Given the description of an element on the screen output the (x, y) to click on. 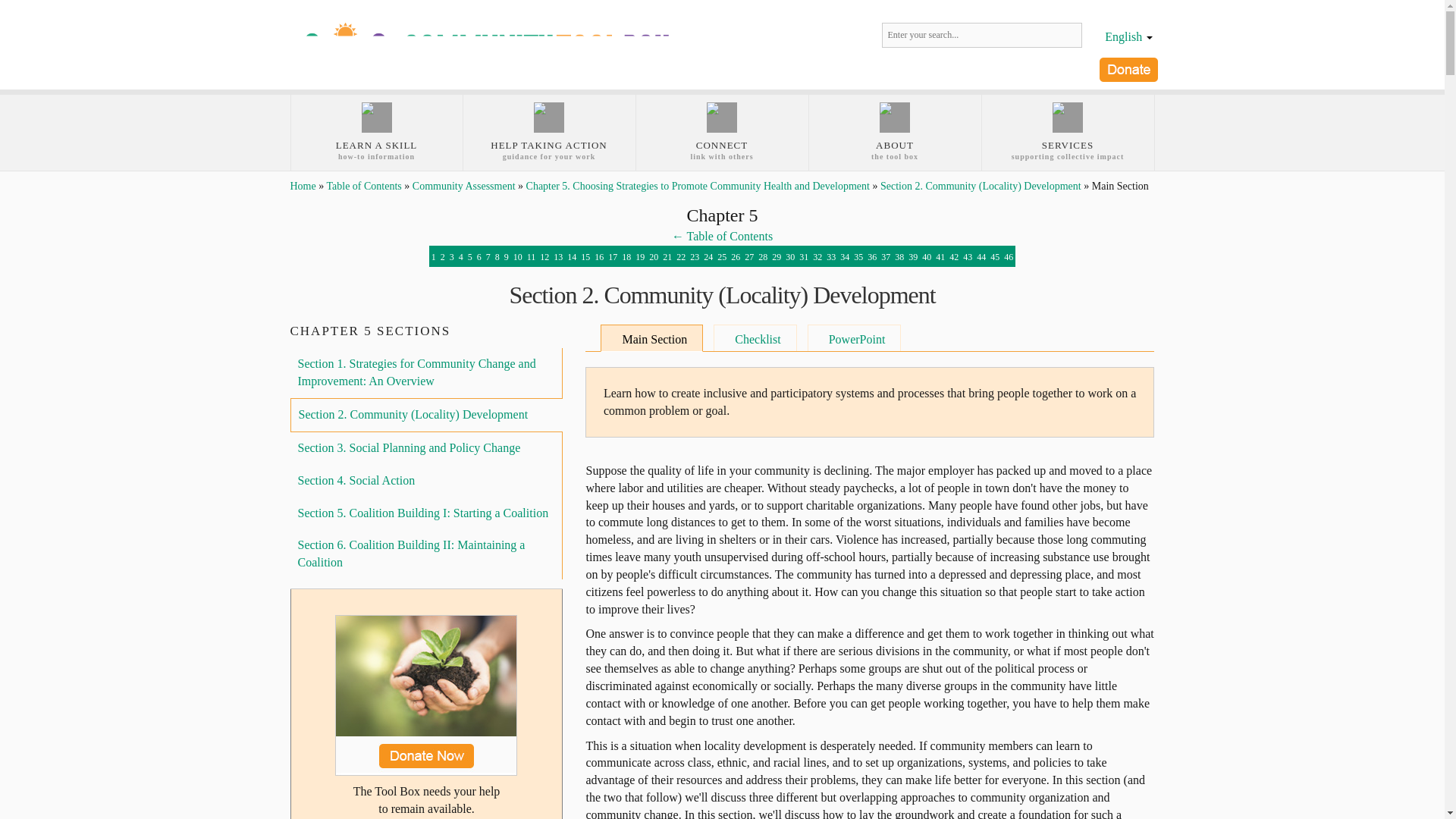
the Tool Box (893, 132)
guidance for your work (548, 132)
Enter the terms you wish to search for. (980, 34)
how-to information (377, 132)
link with others (721, 132)
supporting collective impact (721, 132)
English (1067, 132)
